Given the description of an element on the screen output the (x, y) to click on. 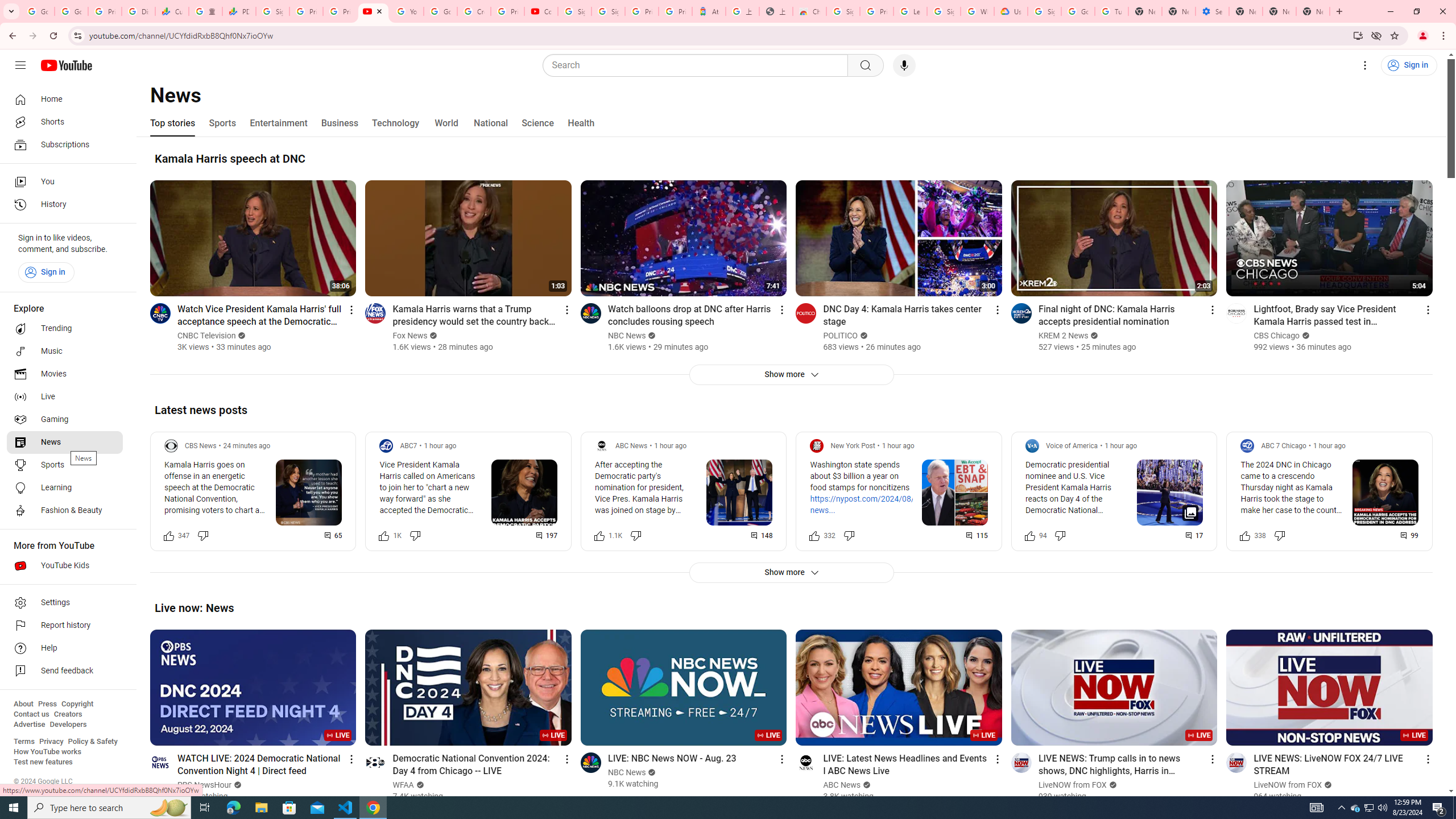
1 hour ago (1329, 445)
Like this post along with 347 other people (168, 534)
Sign in - Google Accounts (1043, 11)
New Tab (1246, 11)
History (64, 204)
Gaming (64, 419)
Sign in - Google Accounts (574, 11)
Advertise (29, 724)
New York Post (852, 445)
Technology (395, 122)
Policy & Safety (91, 741)
ABC News (841, 784)
